Given the description of an element on the screen output the (x, y) to click on. 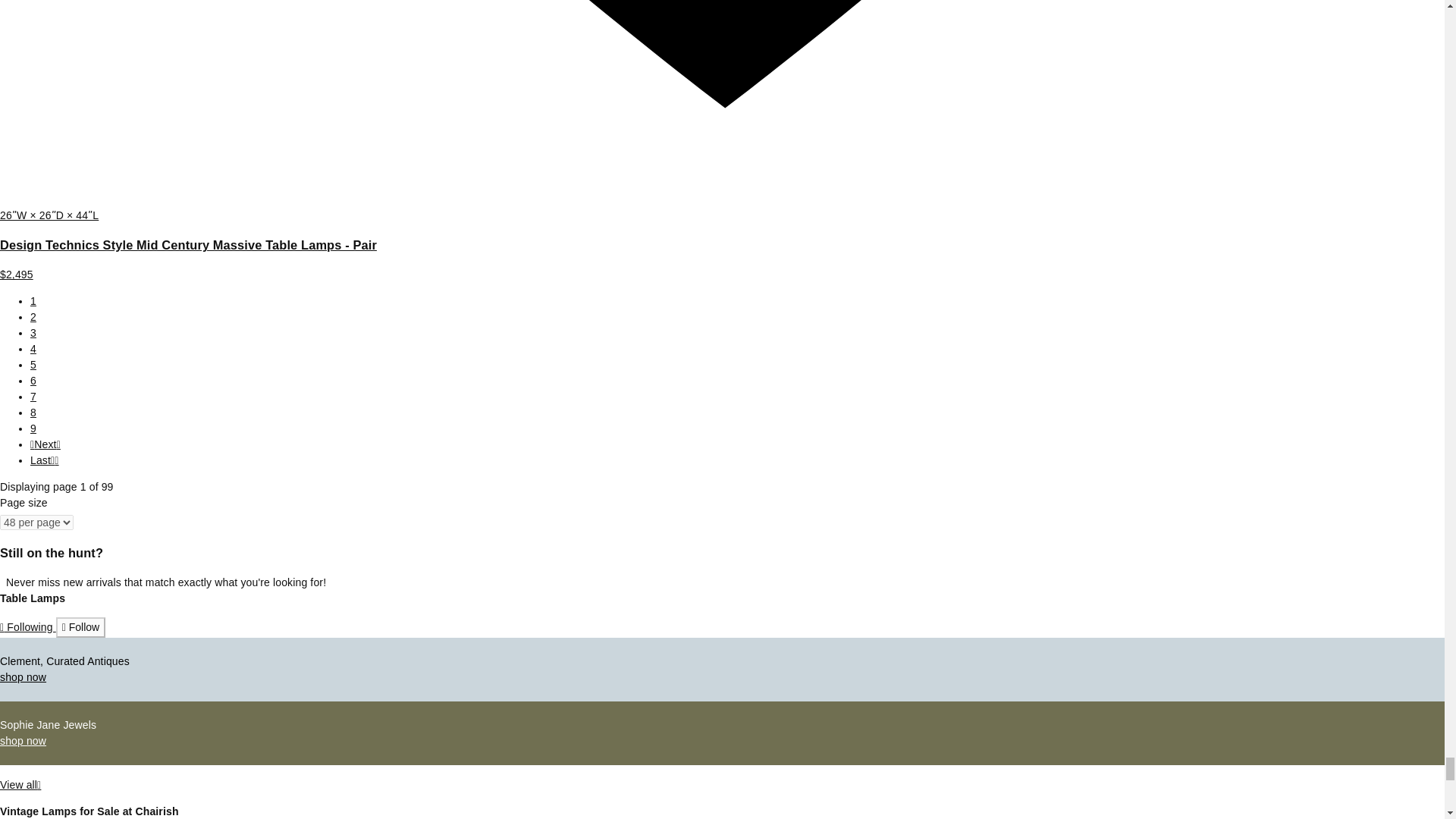
Next Page (45, 444)
